Given the description of an element on the screen output the (x, y) to click on. 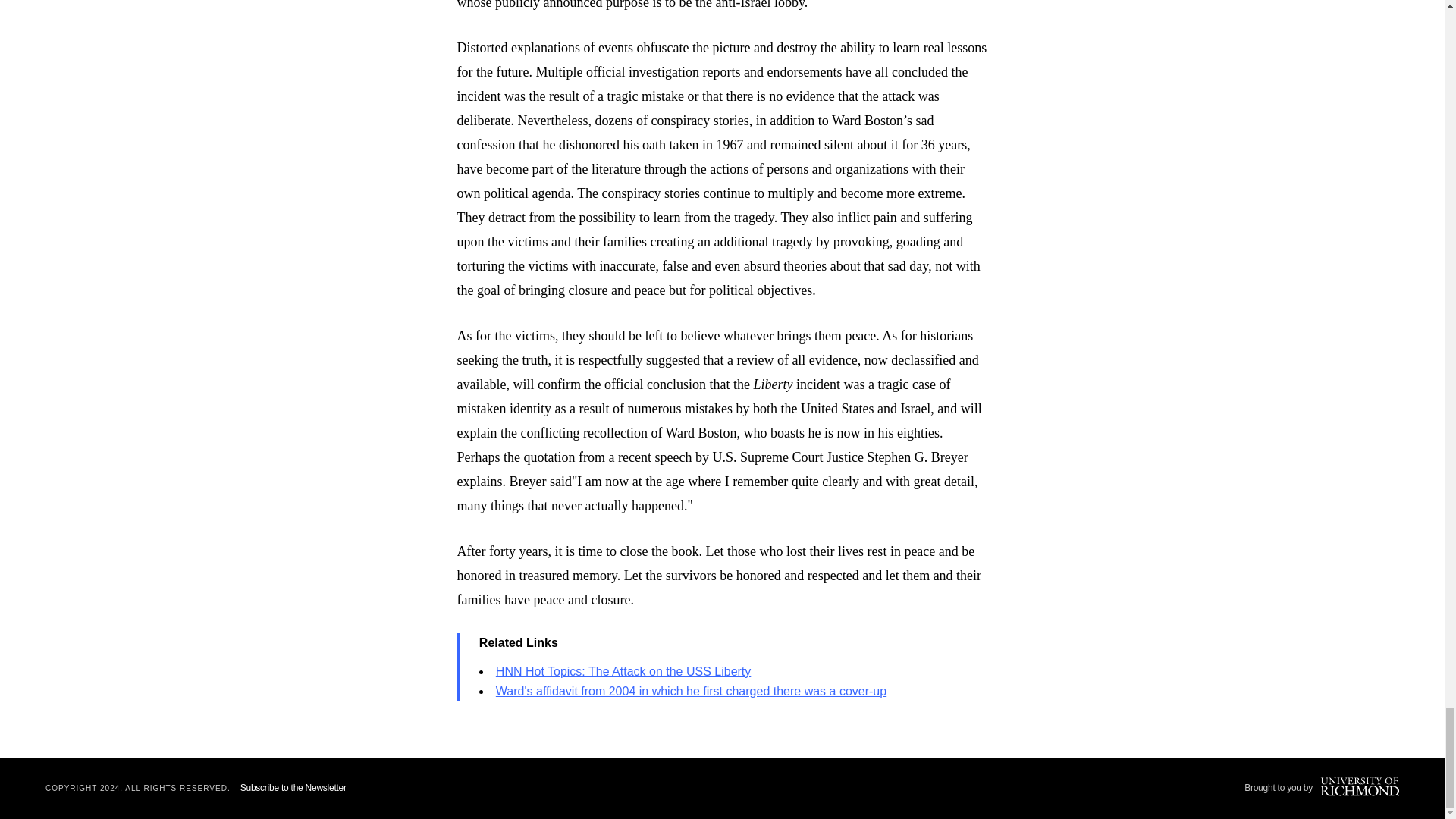
Subscribe to the Newsletter (293, 787)
HNN Hot Topics: The Attack on the USS Liberty (623, 671)
